Given the description of an element on the screen output the (x, y) to click on. 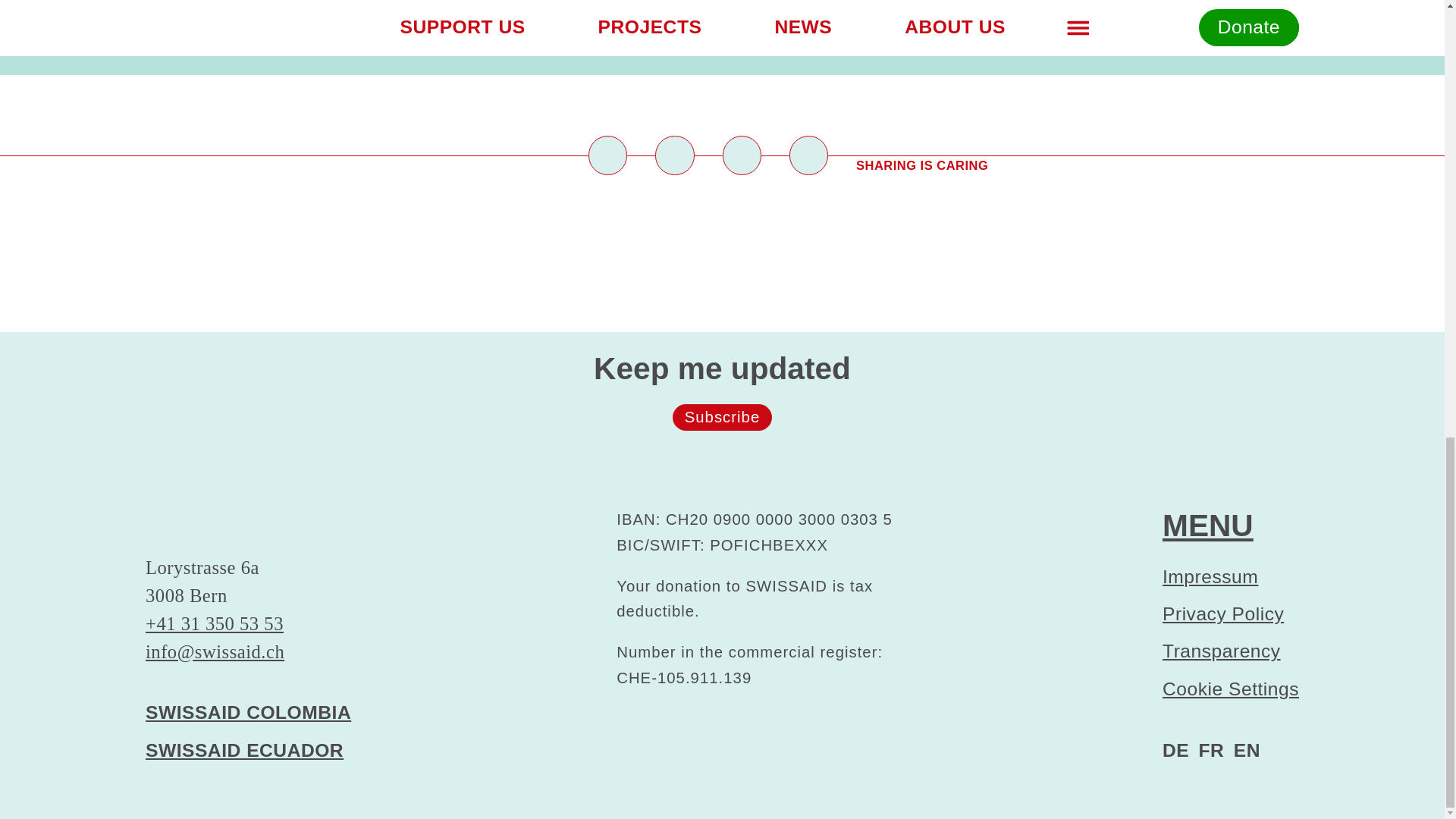
Twitter (674, 154)
Linkedin (741, 154)
Youtube (789, 745)
SWISSAID (247, 527)
Facebook (607, 154)
Instagram (738, 745)
Zewo (863, 768)
Facebook (686, 745)
Twitter (634, 745)
